Given the description of an element on the screen output the (x, y) to click on. 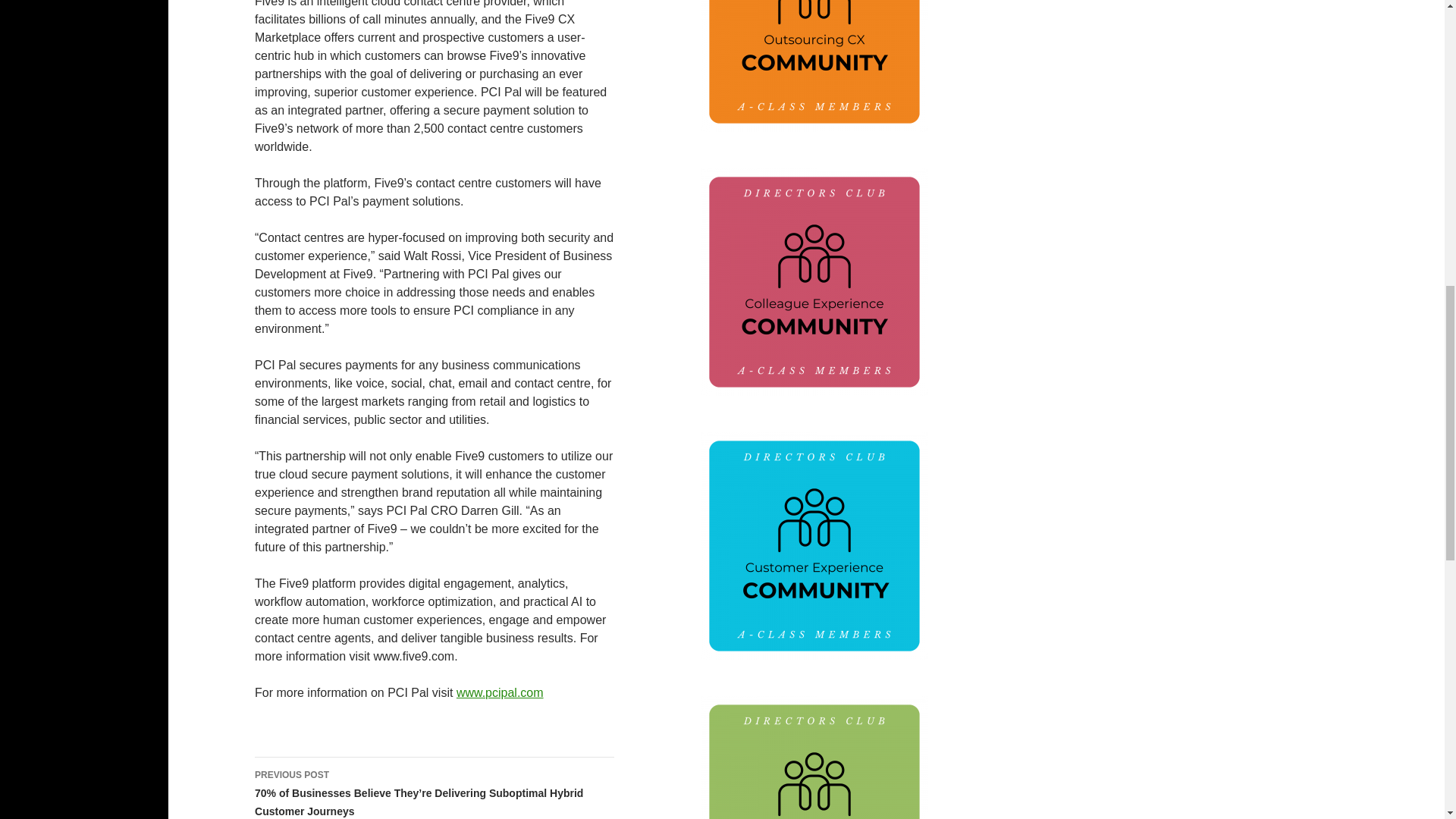
www.pcipal.com (500, 692)
